Given the description of an element on the screen output the (x, y) to click on. 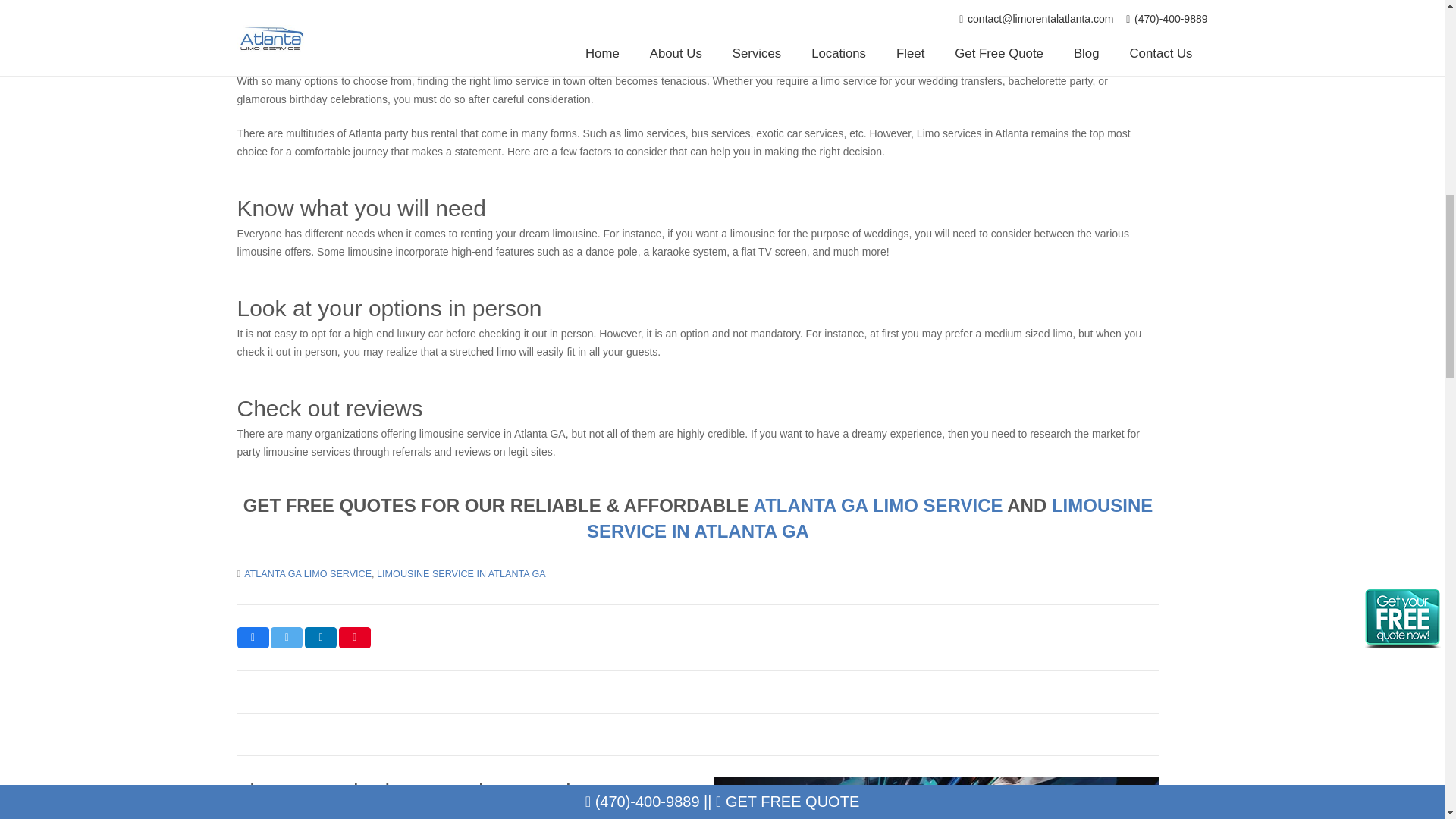
Tweet this (286, 637)
LIMOUSINE SERVICE IN ATLANTA GA (869, 518)
Share this (251, 637)
ATLANTA GA LIMO SERVICE (307, 573)
Pin this (355, 637)
Share this (320, 637)
Blog (323, 41)
Limo Rental Atlanta GA is More than Transportation Company (419, 799)
ATLANTA GA LIMO SERVICE (878, 505)
LIMOUSINE SERVICE IN ATLANTA GA (461, 573)
